Given the description of an element on the screen output the (x, y) to click on. 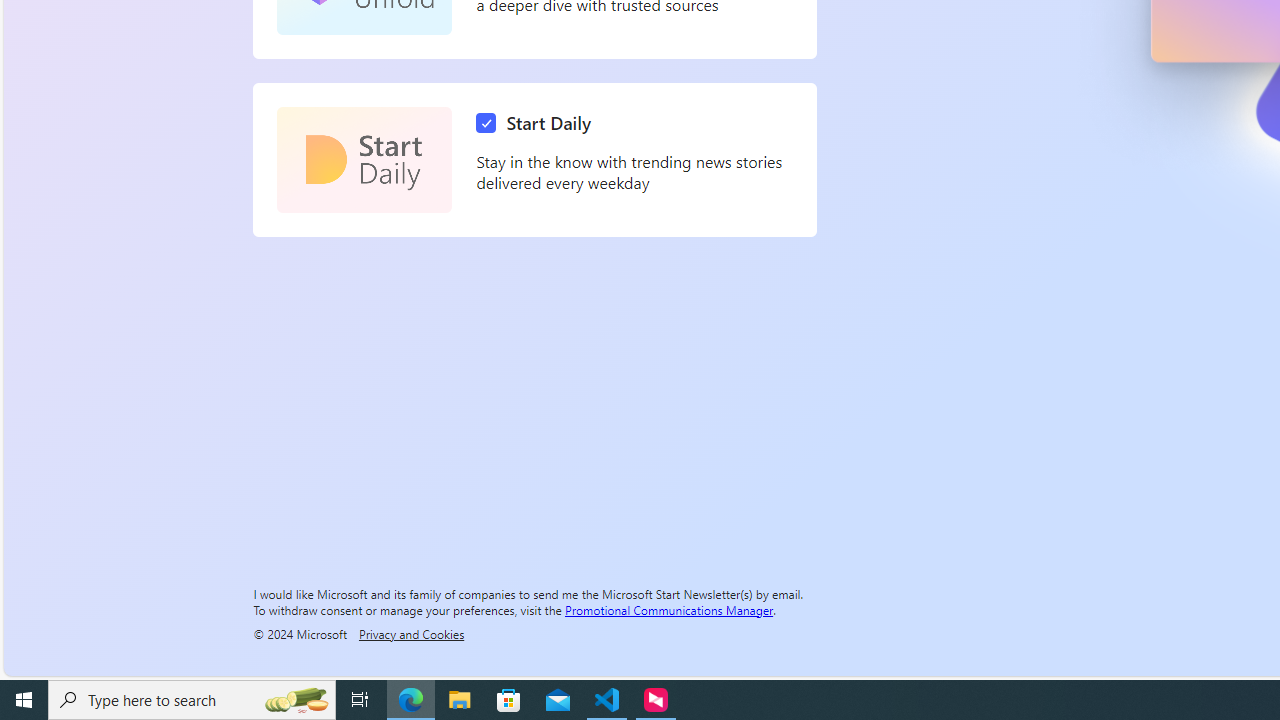
Start Daily (364, 160)
Promotional Communications Manager (669, 609)
Privacy and Cookies (411, 633)
Start Daily (538, 123)
